Given the description of an element on the screen output the (x, y) to click on. 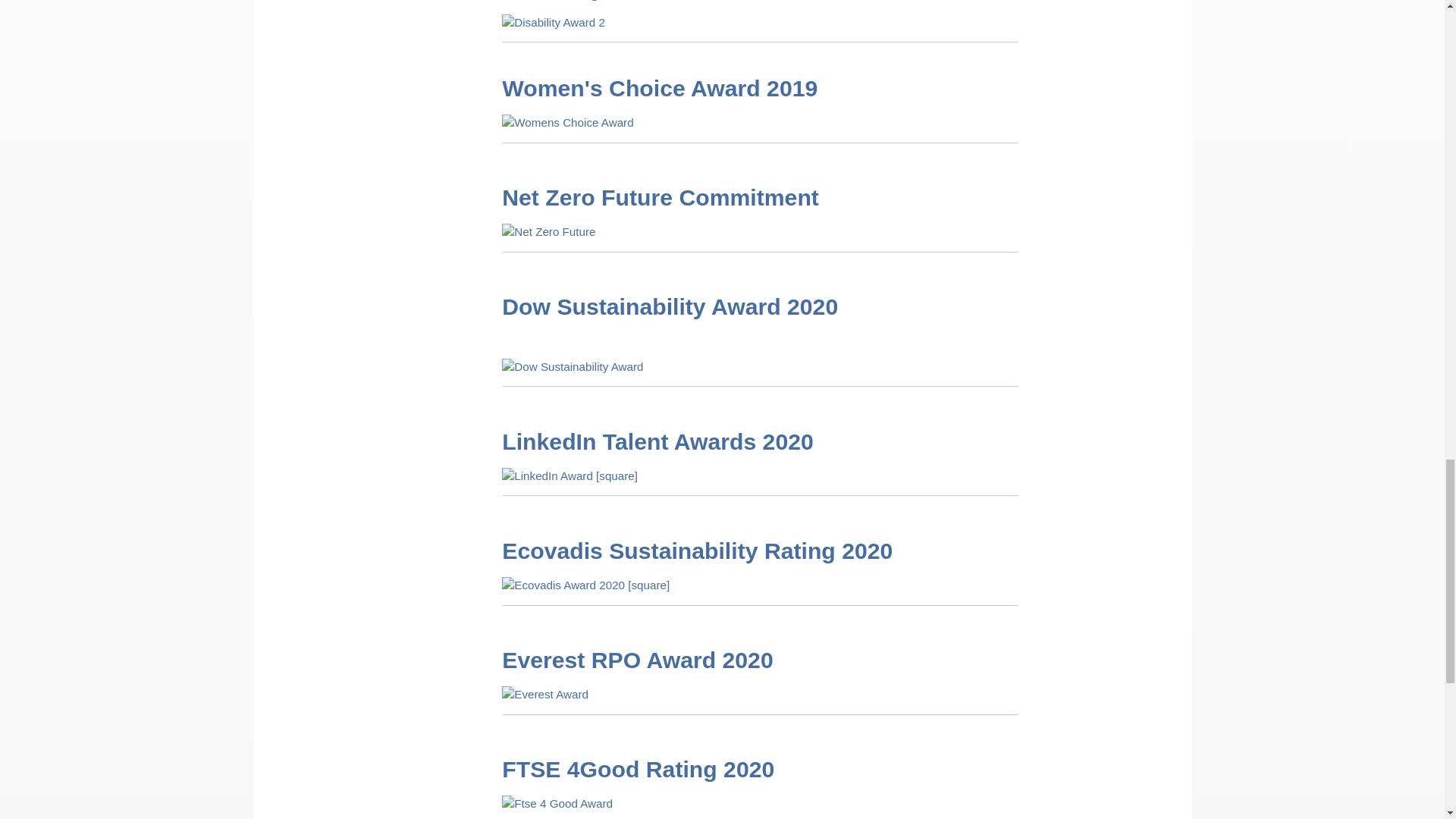
Dow Sustainability Award 2020 (670, 306)
Ecovadis Sustainability Rating 2020 (697, 550)
Women's Choice Award 2019 (659, 88)
Net Zero Future Commitment (660, 197)
LinkedIn Talent Awards 2020 (657, 441)
